Given the description of an element on the screen output the (x, y) to click on. 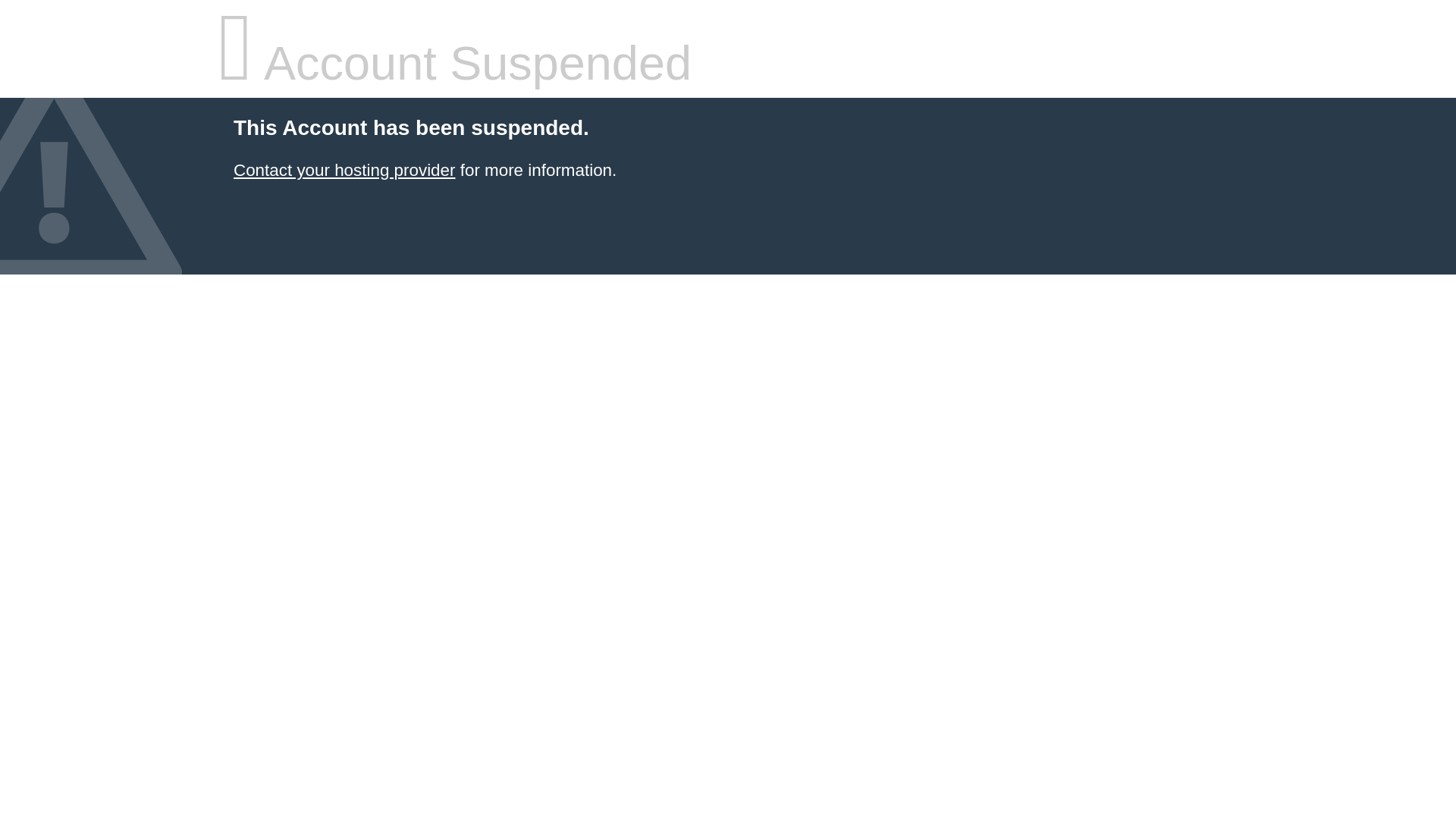
Contact your hosting provider (343, 169)
